Given the description of an element on the screen output the (x, y) to click on. 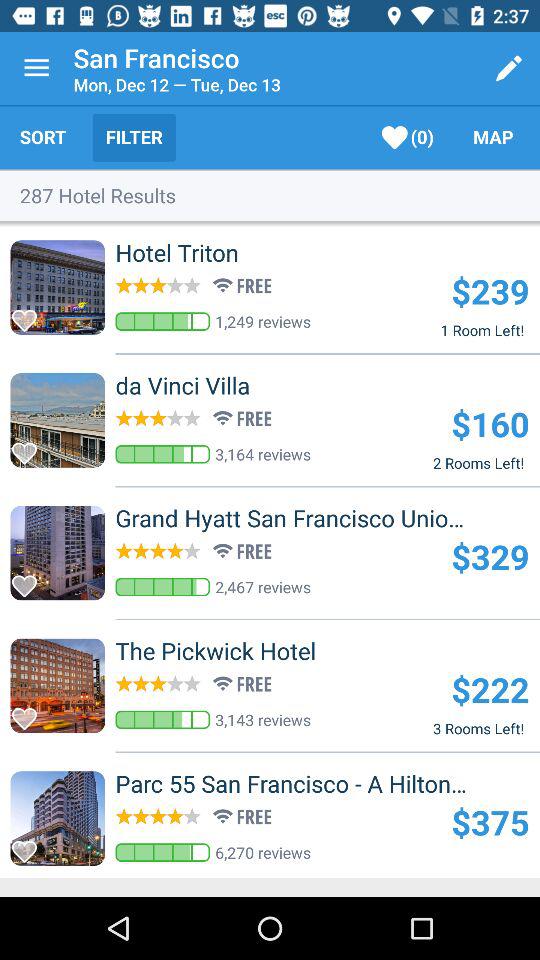
favorite (30, 713)
